Given the description of an element on the screen output the (x, y) to click on. 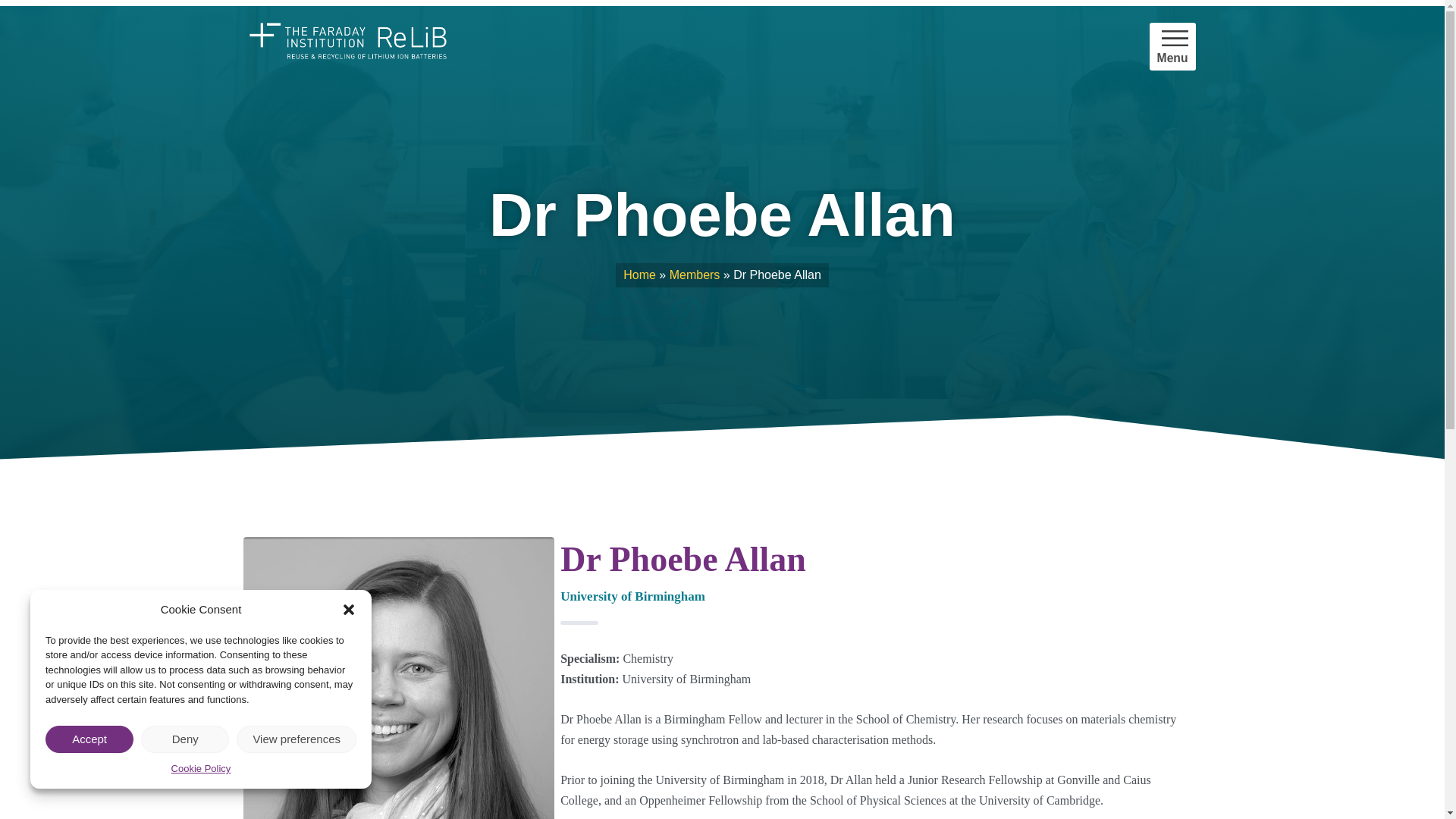
Home (639, 274)
Members (694, 274)
Cookie Policy (201, 768)
Deny (184, 738)
Accept (89, 738)
View preferences (295, 738)
